Given the description of an element on the screen output the (x, y) to click on. 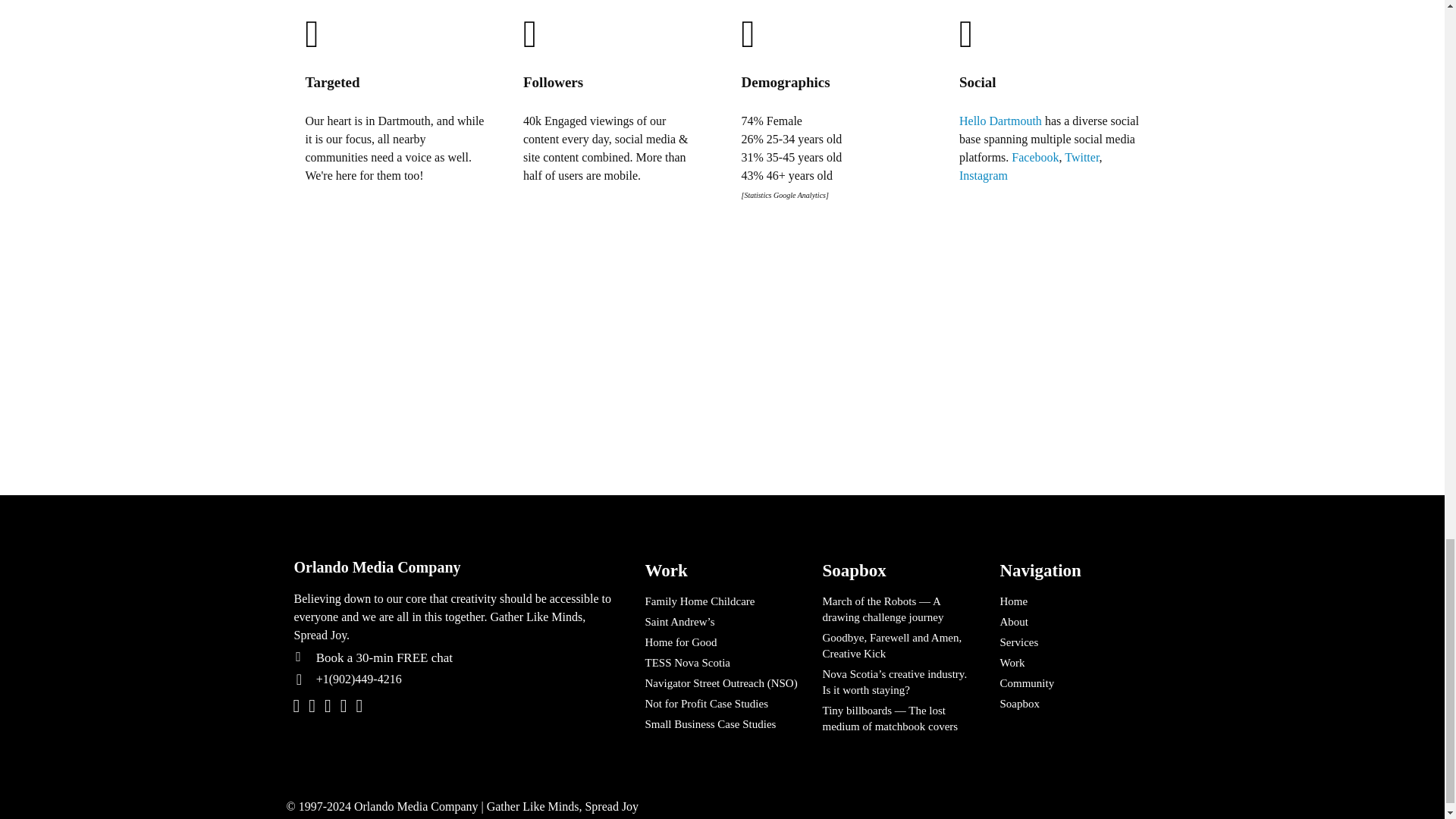
Hello Dartmouth (1000, 119)
Family Home Childcare (722, 601)
Facebook (1034, 155)
Orlando Media Company (455, 566)
TESS Nova Scotia (722, 662)
Twitter (1081, 155)
Instagram (983, 174)
Home for Good (722, 642)
Book a 30-min FREE chat (465, 658)
